Given the description of an element on the screen output the (x, y) to click on. 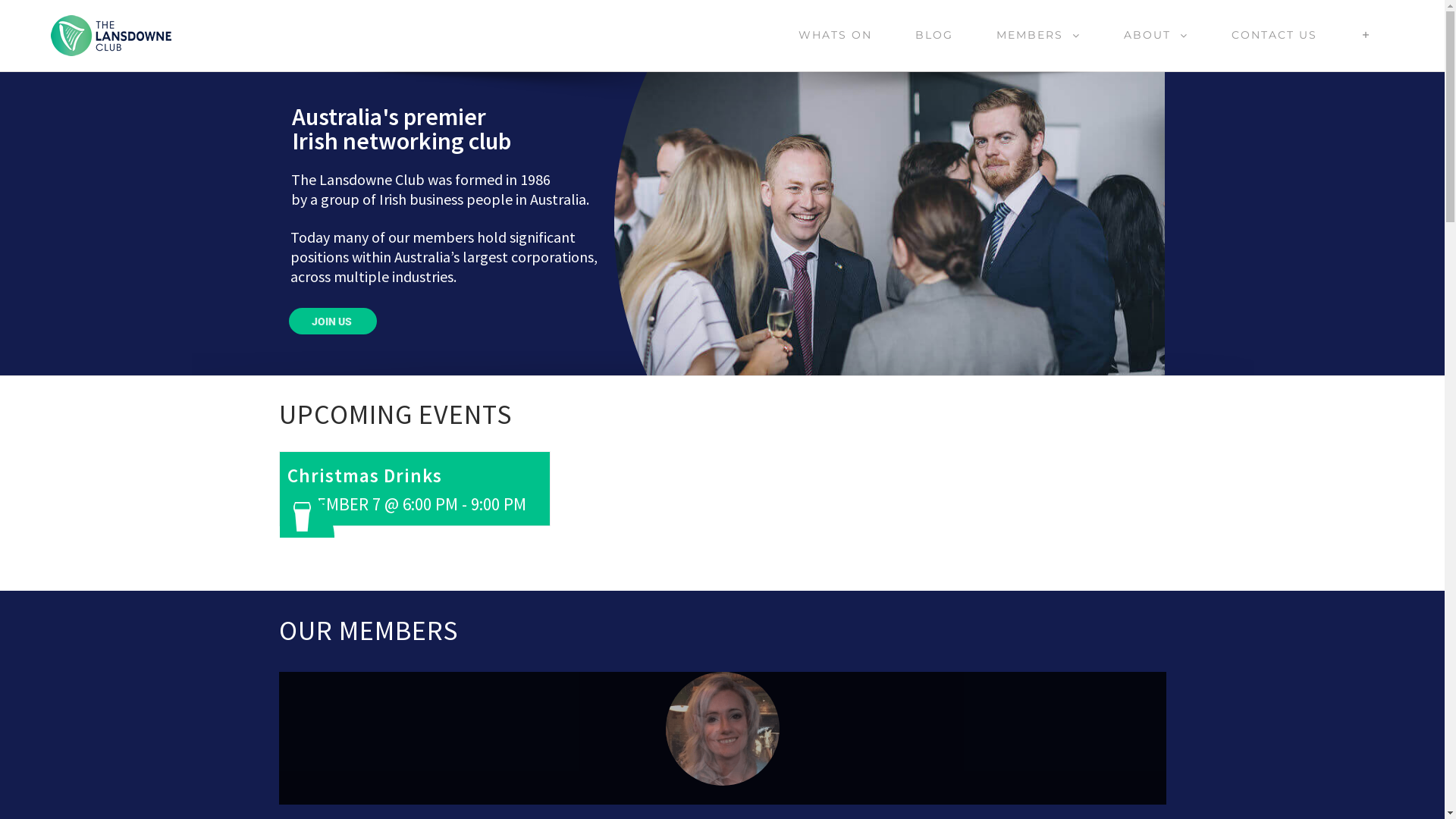
CONTACT US Element type: text (1273, 34)
MEMBERS Element type: text (1037, 34)
JOIN US Element type: text (332, 320)
Christmas Drinks Element type: text (363, 475)
ABOUT Element type: text (1155, 34)
Toggle Sliding Bar Element type: hover (1365, 34)
BLOG Element type: text (933, 34)
WHATS ON Element type: text (834, 34)
